Given the description of an element on the screen output the (x, y) to click on. 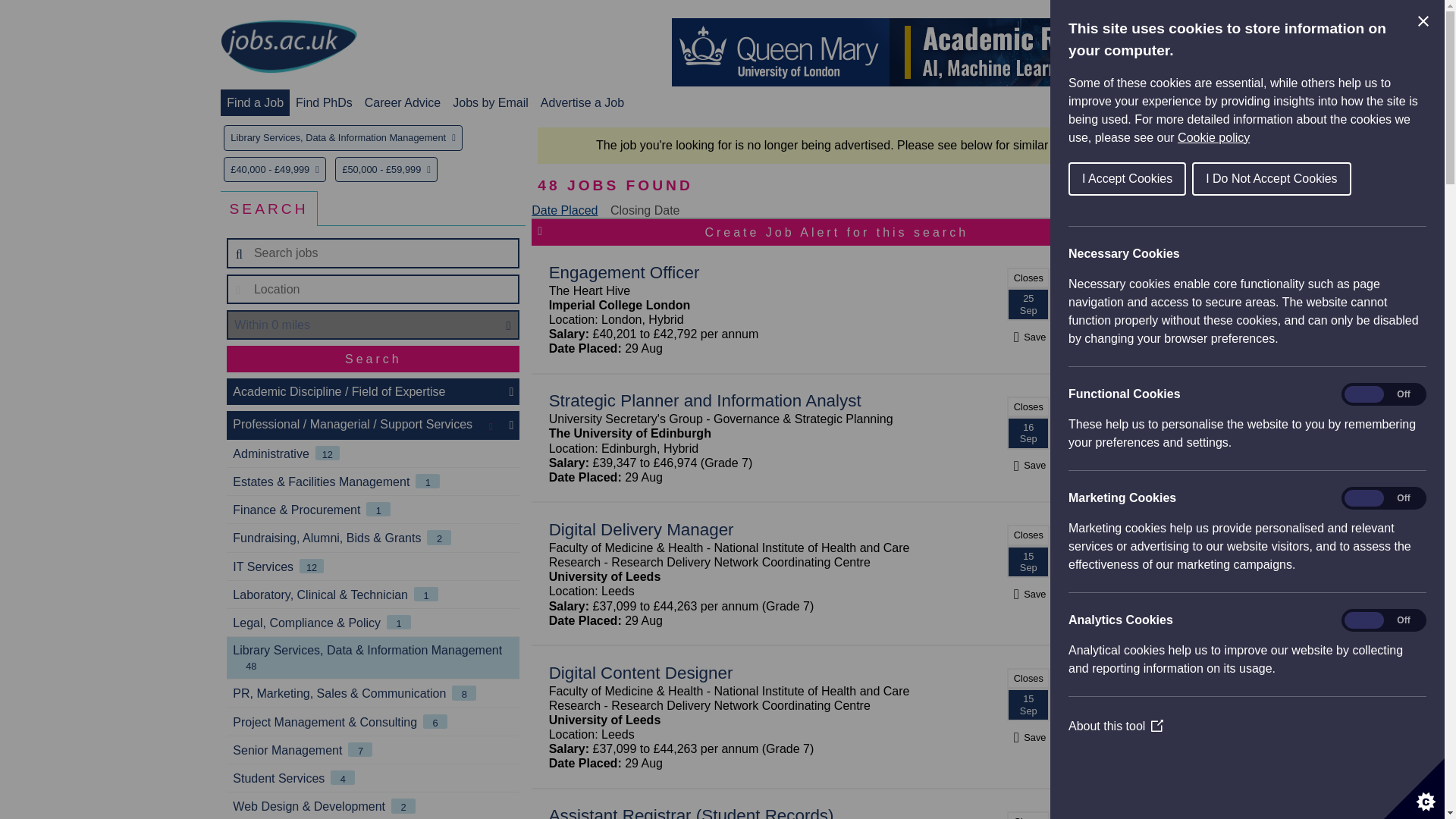
home page (288, 47)
Create Job Alert for this search (836, 232)
Recruiters (1189, 102)
Jobs by Email (490, 102)
I Do Not Accept Cookies (1300, 178)
Create Job Alert for this search (836, 232)
Cookie policy (1380, 137)
Find PhDs (323, 102)
Advertise a Job (582, 102)
Save job (1027, 593)
